Given the description of an element on the screen output the (x, y) to click on. 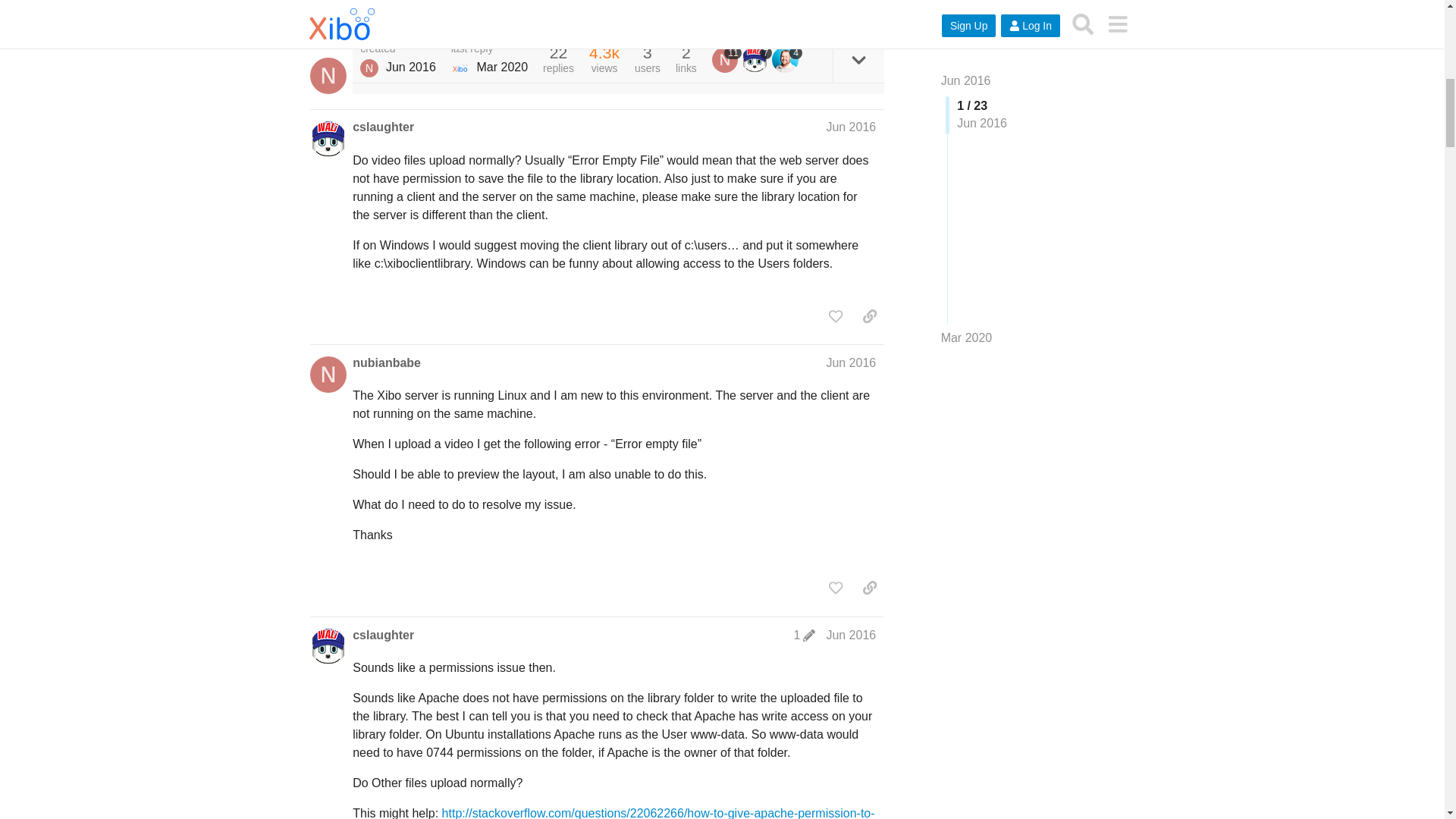
Jun 17, 2016 4:22 am (410, 66)
like this post (835, 10)
expand topic details (857, 59)
cslaughter (382, 126)
last reply (489, 49)
nubianbabe (368, 67)
11 (726, 59)
7 (756, 59)
4 (786, 59)
copy a link to this post to clipboard (869, 10)
